Given the description of an element on the screen output the (x, y) to click on. 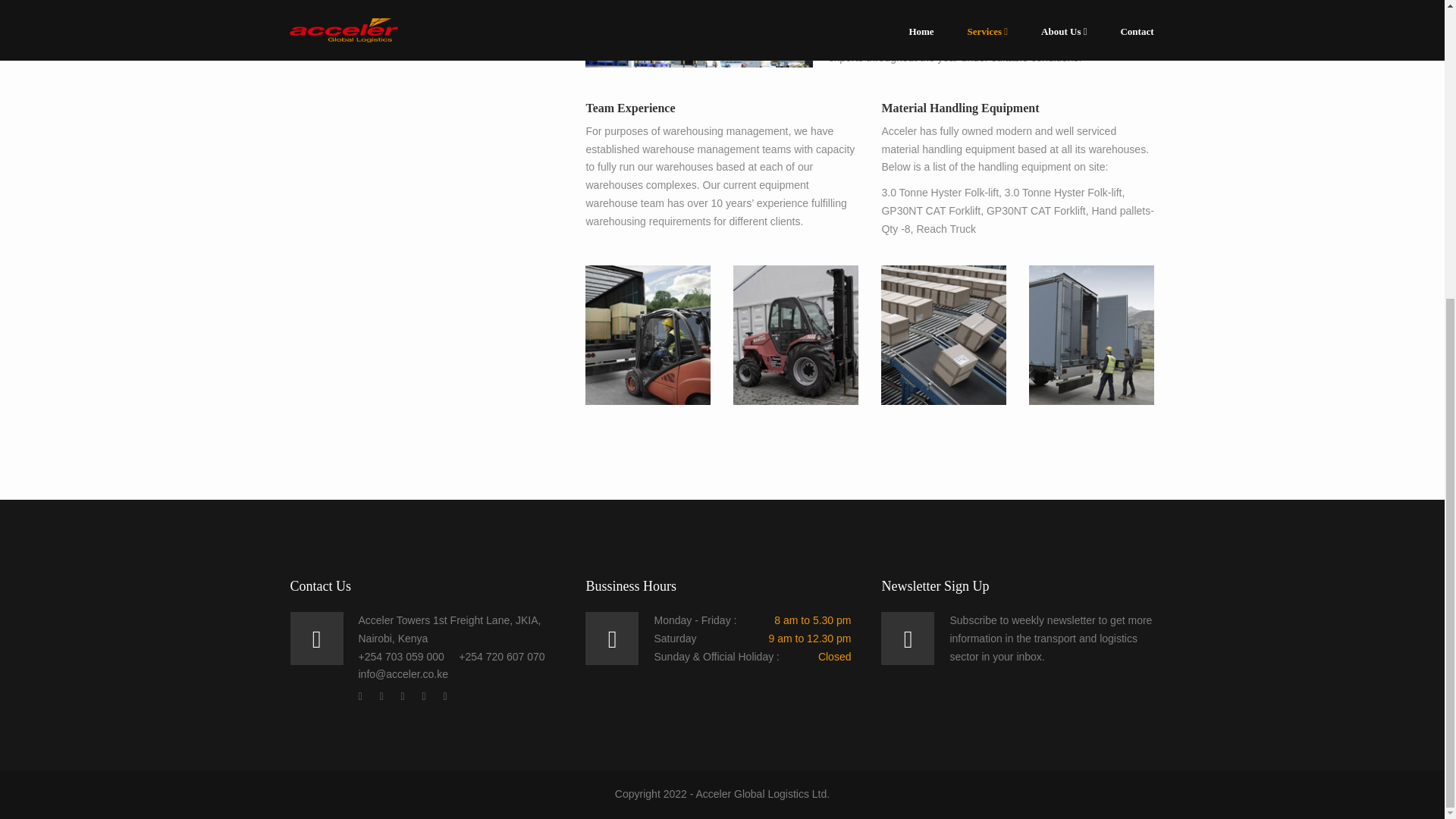
small-11 (796, 334)
small-12 (647, 334)
